Given the description of an element on the screen output the (x, y) to click on. 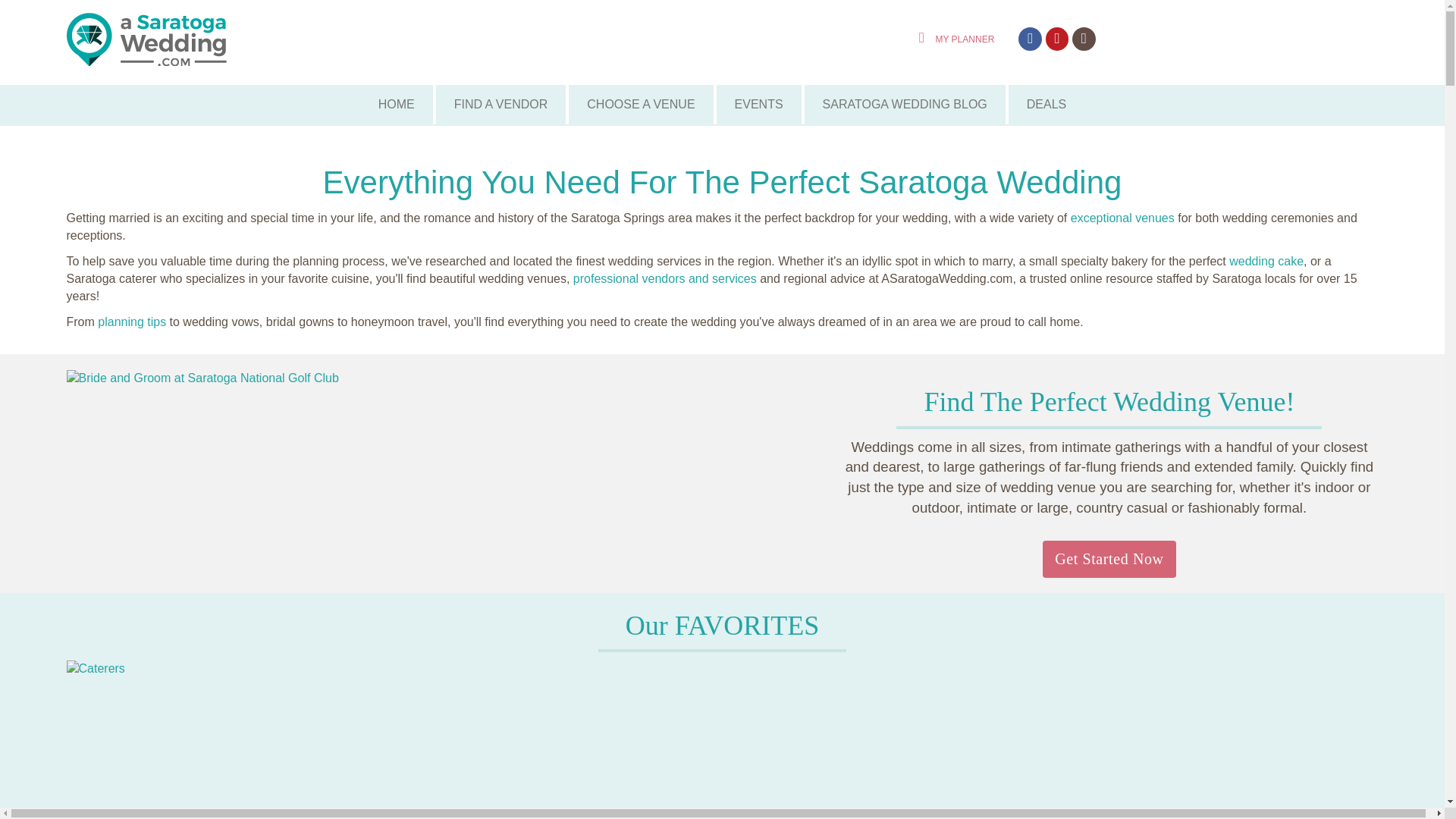
SARATOGA WEDDING BLOG (905, 104)
exceptional venues (1122, 217)
Facebook (1029, 38)
HOME (395, 104)
Pinterest (1056, 38)
wedding cake (1265, 260)
EVENTS (759, 104)
Instragram (1083, 38)
CHOOSE A VENUE (641, 104)
MY PLANNER (952, 38)
